Given the description of an element on the screen output the (x, y) to click on. 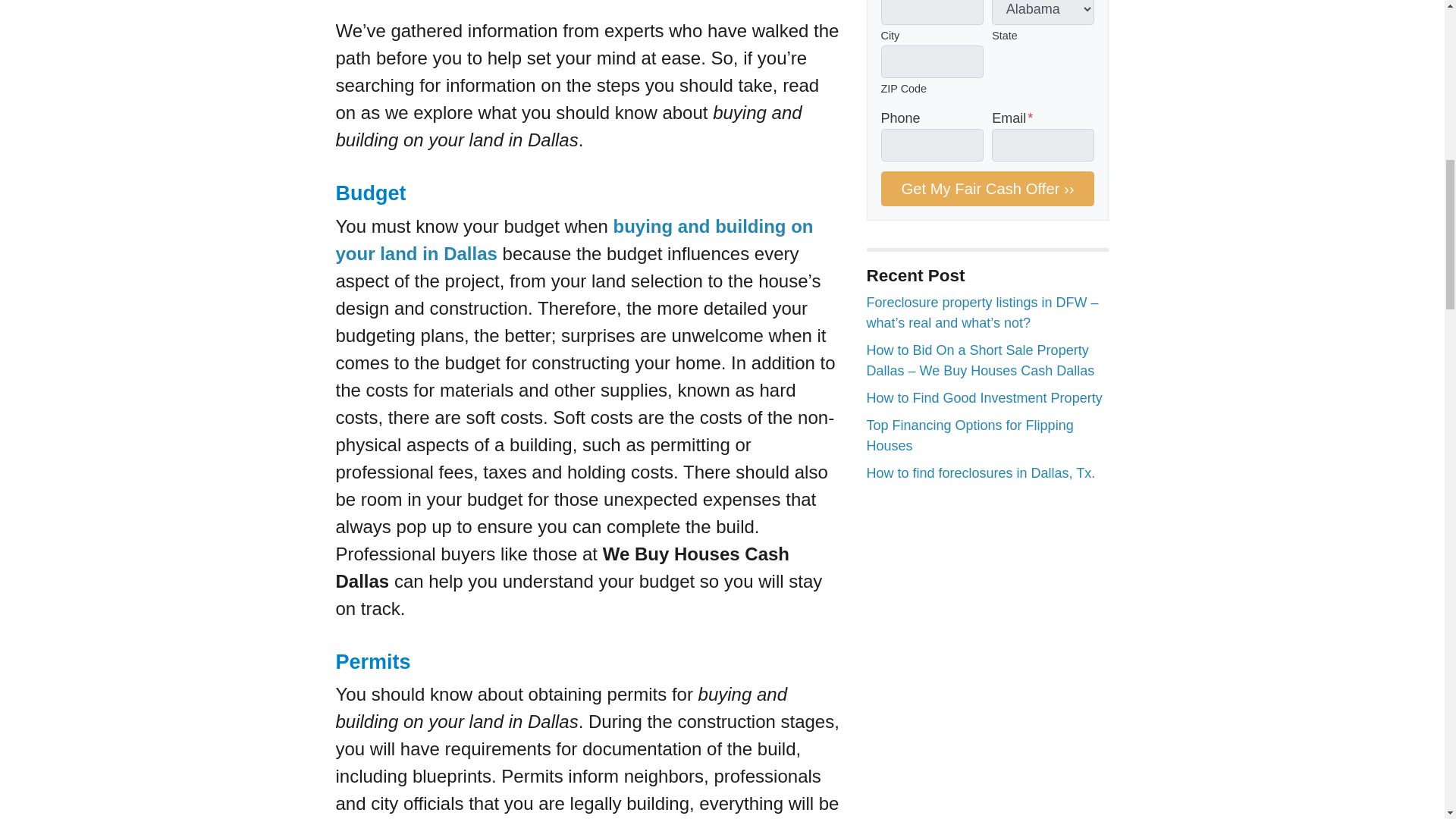
buying and building on your land in Dallas (573, 239)
How to Find Good Investment Property (984, 397)
